Given the description of an element on the screen output the (x, y) to click on. 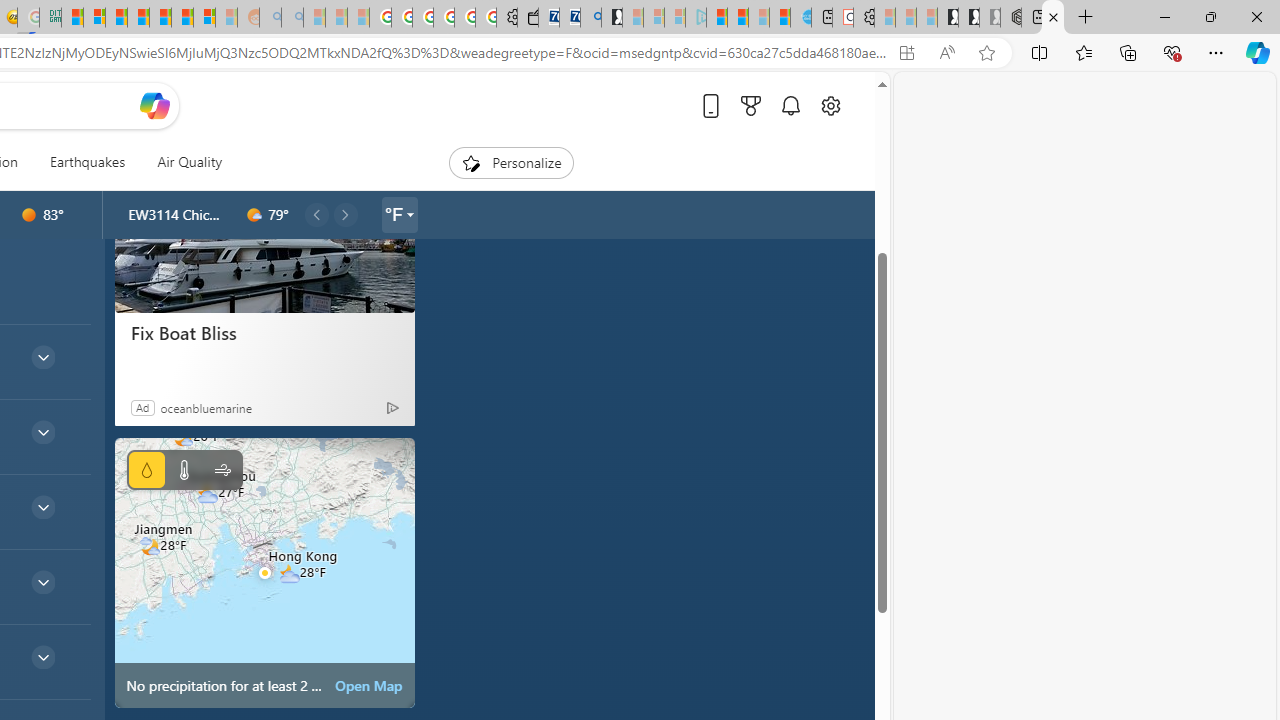
Earthquakes (86, 162)
oceanbluemarine (206, 407)
Class: miniMapRadarSVGView-DS-EntryPoint1-1 (263, 572)
